Given the description of an element on the screen output the (x, y) to click on. 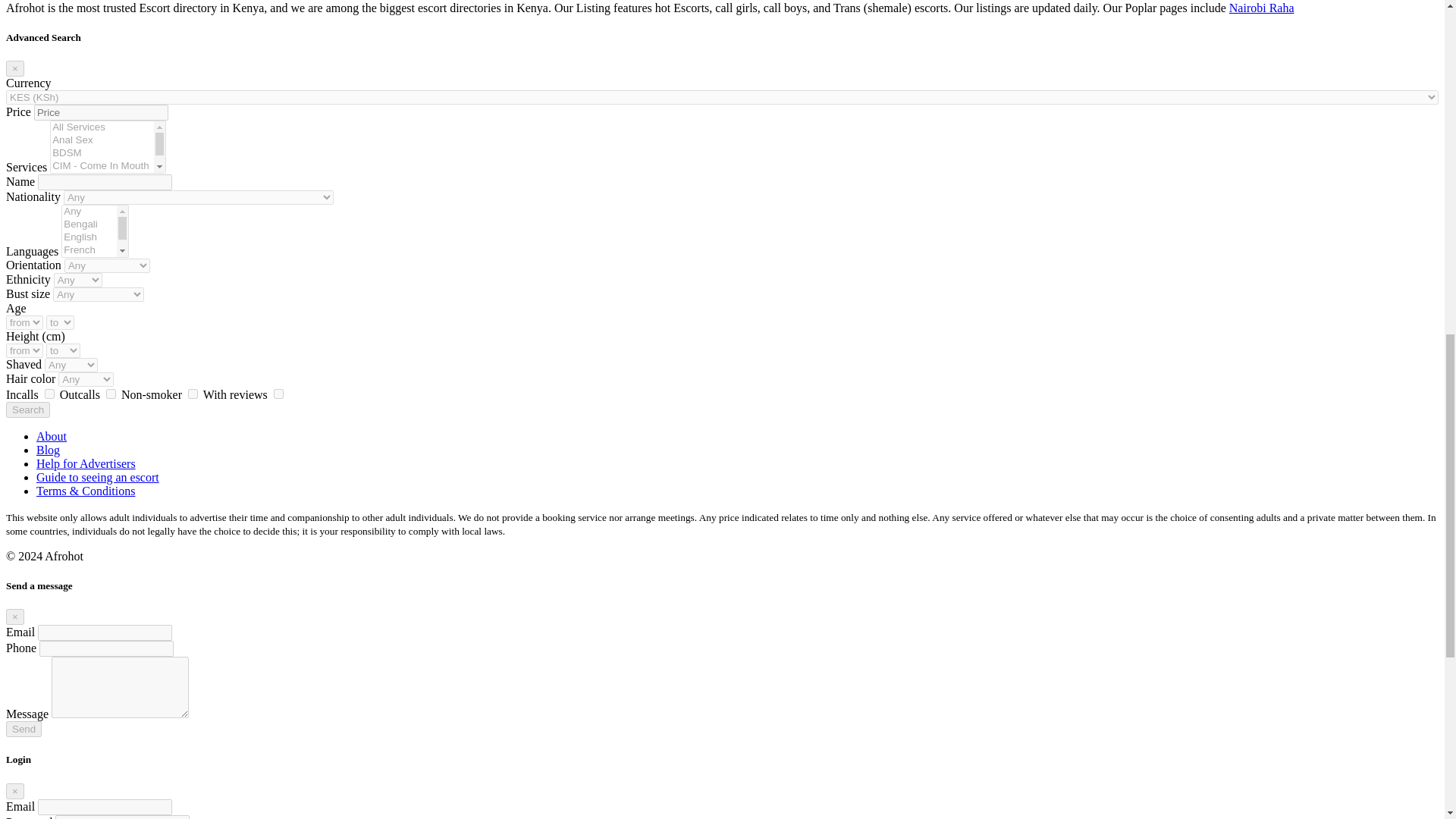
1 (192, 393)
1 (111, 393)
1 (278, 393)
1 (50, 393)
